Given the description of an element on the screen output the (x, y) to click on. 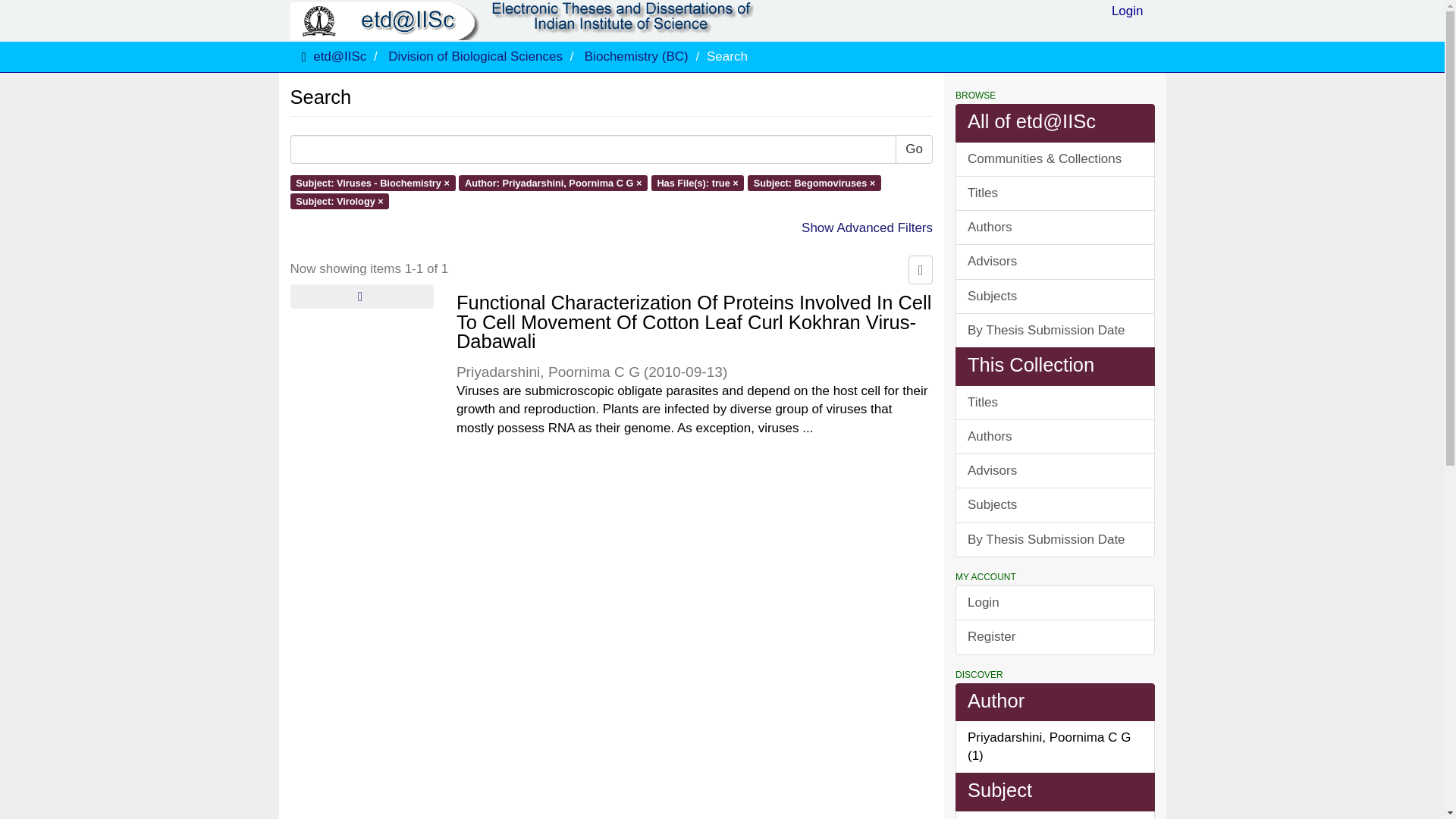
Go (914, 149)
Show Advanced Filters (867, 227)
Division of Biological Sciences (475, 56)
Login (1127, 15)
